Given the description of an element on the screen output the (x, y) to click on. 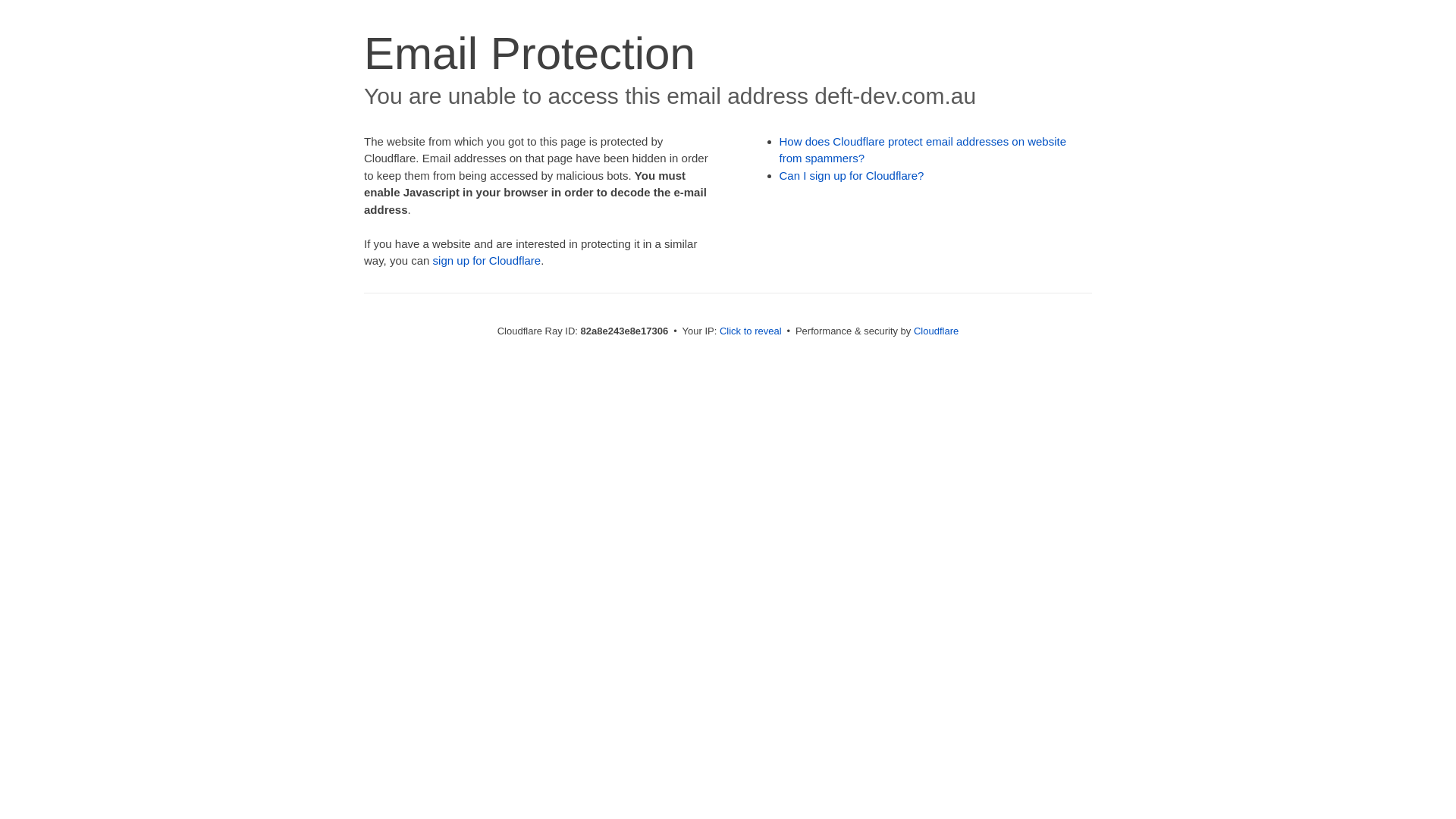
Cloudflare Element type: text (935, 330)
sign up for Cloudflare Element type: text (487, 260)
Can I sign up for Cloudflare? Element type: text (851, 175)
Click to reveal Element type: text (750, 330)
